Given the description of an element on the screen output the (x, y) to click on. 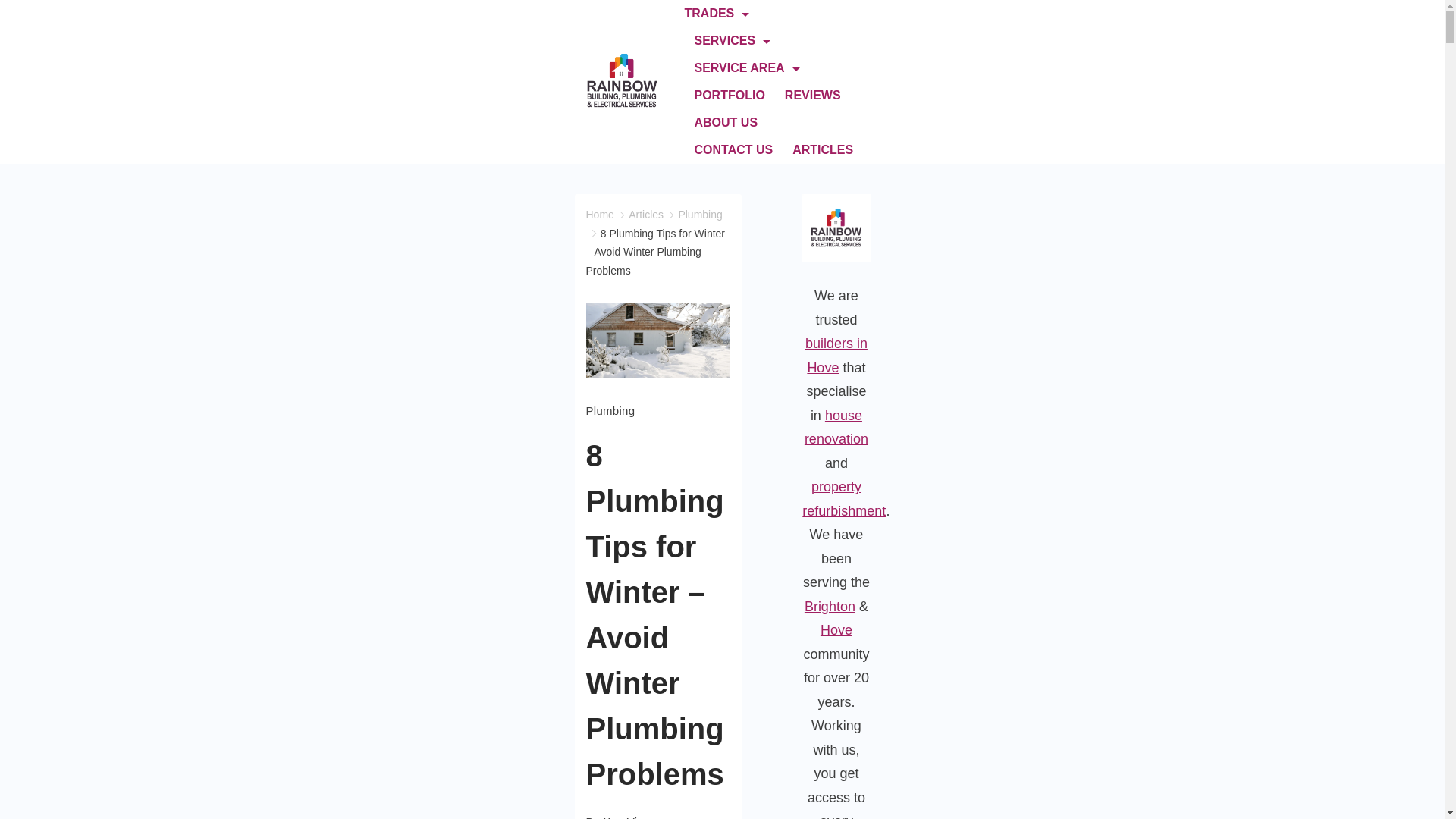
SERVICES (732, 40)
SERVICE AREA (746, 67)
TRADES (721, 13)
